Given the description of an element on the screen output the (x, y) to click on. 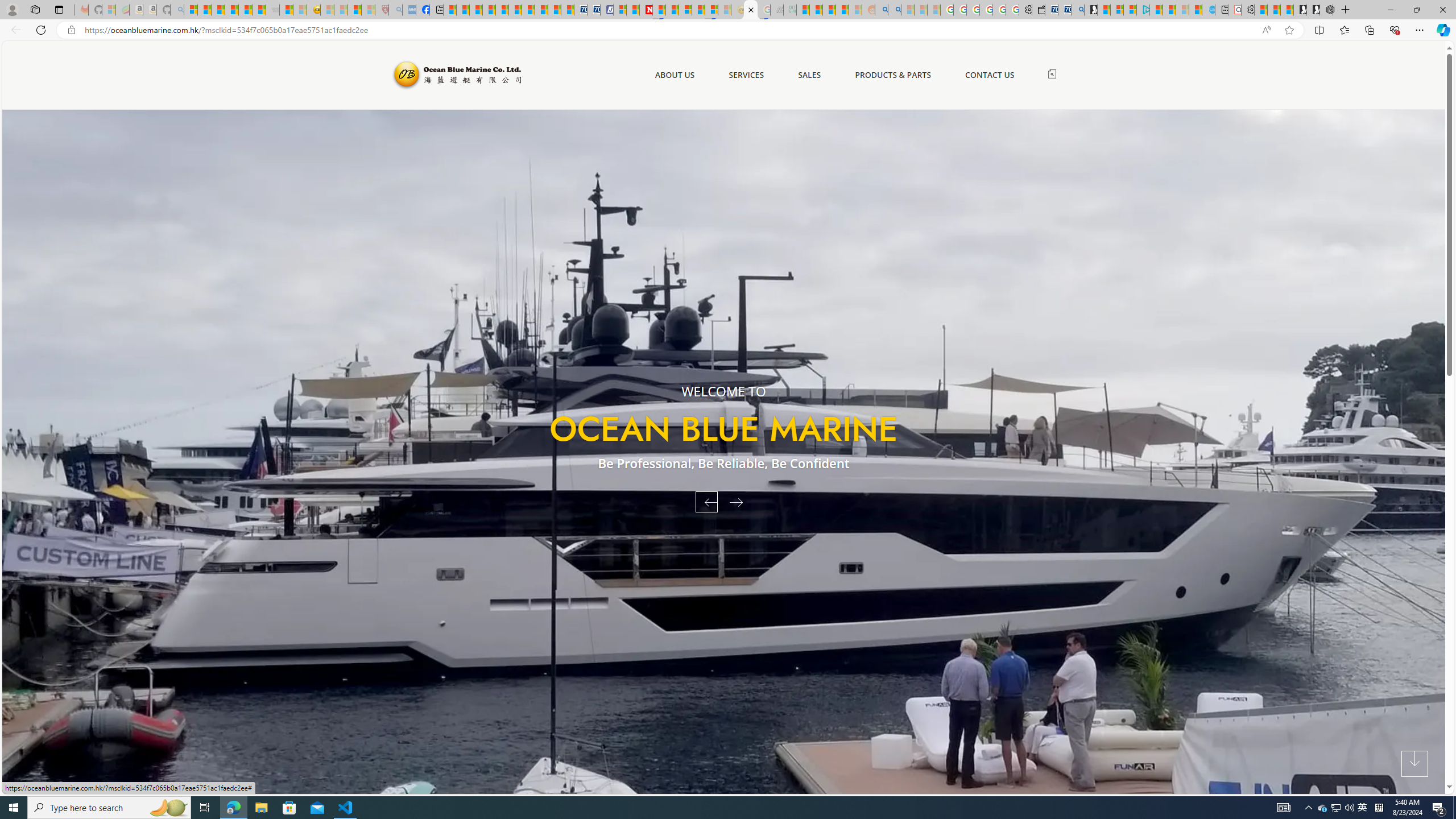
CONTACT US (989, 75)
Student Loan Update: Forgiveness Program Ends This Month (842, 9)
